Given the description of an element on the screen output the (x, y) to click on. 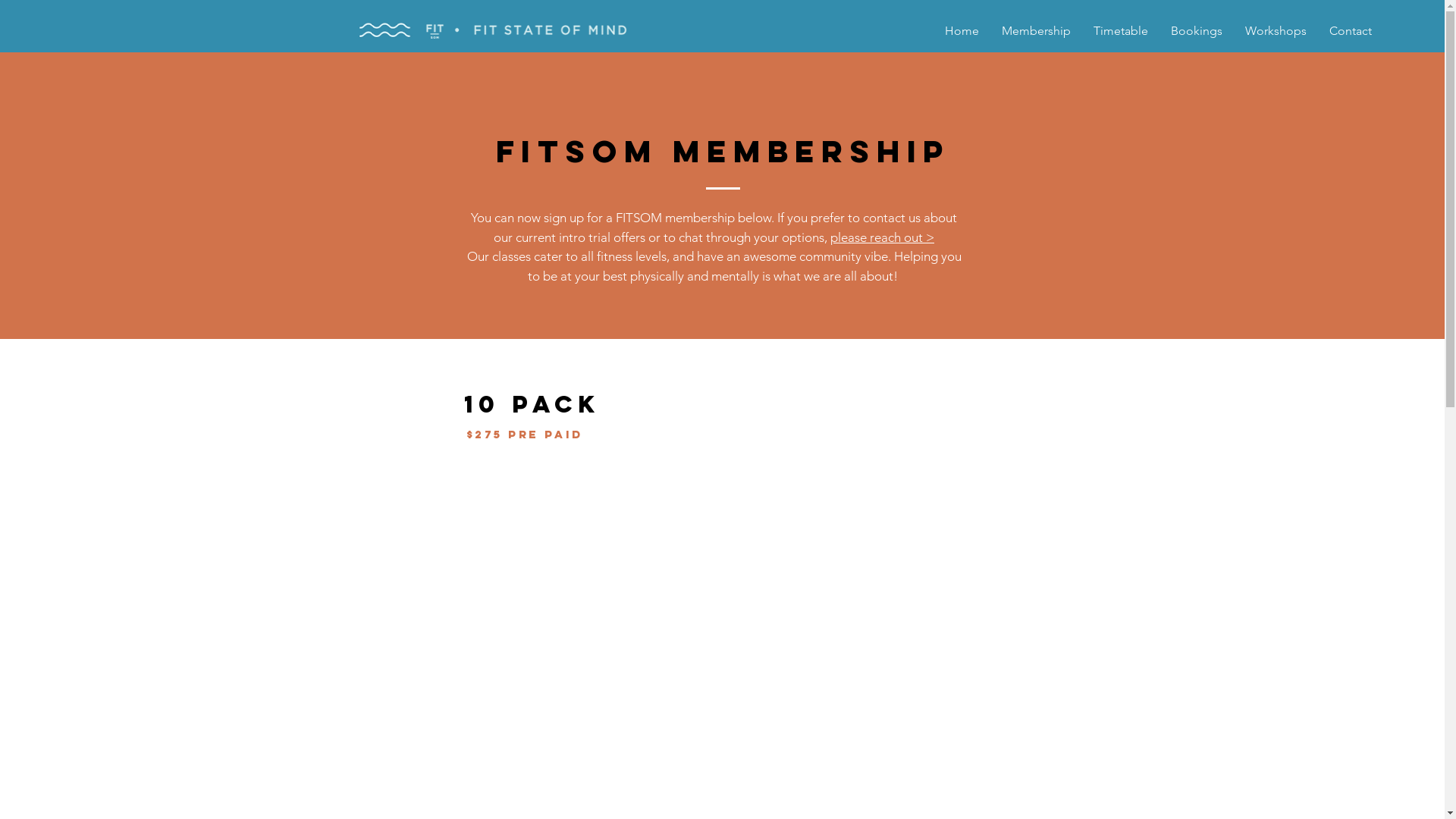
Workshops Element type: text (1275, 30)
Timetable Element type: text (1120, 30)
Bookings Element type: text (1196, 30)
please reach out > Element type: text (882, 236)
Home Element type: text (961, 30)
Contact Element type: text (1350, 30)
Membership Element type: text (1036, 30)
